Given the description of an element on the screen output the (x, y) to click on. 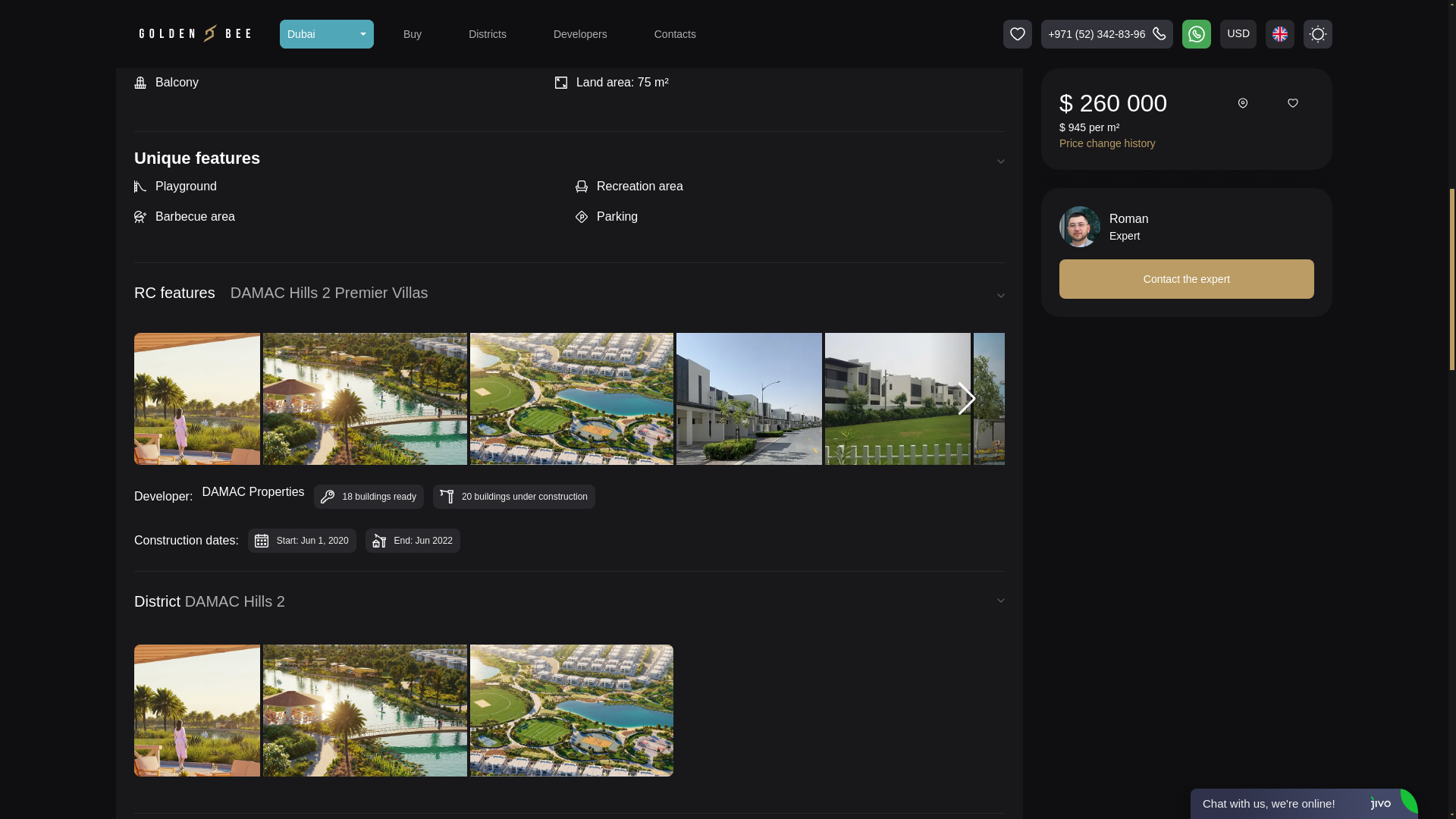
DAMAC Properties (253, 496)
